Given the description of an element on the screen output the (x, y) to click on. 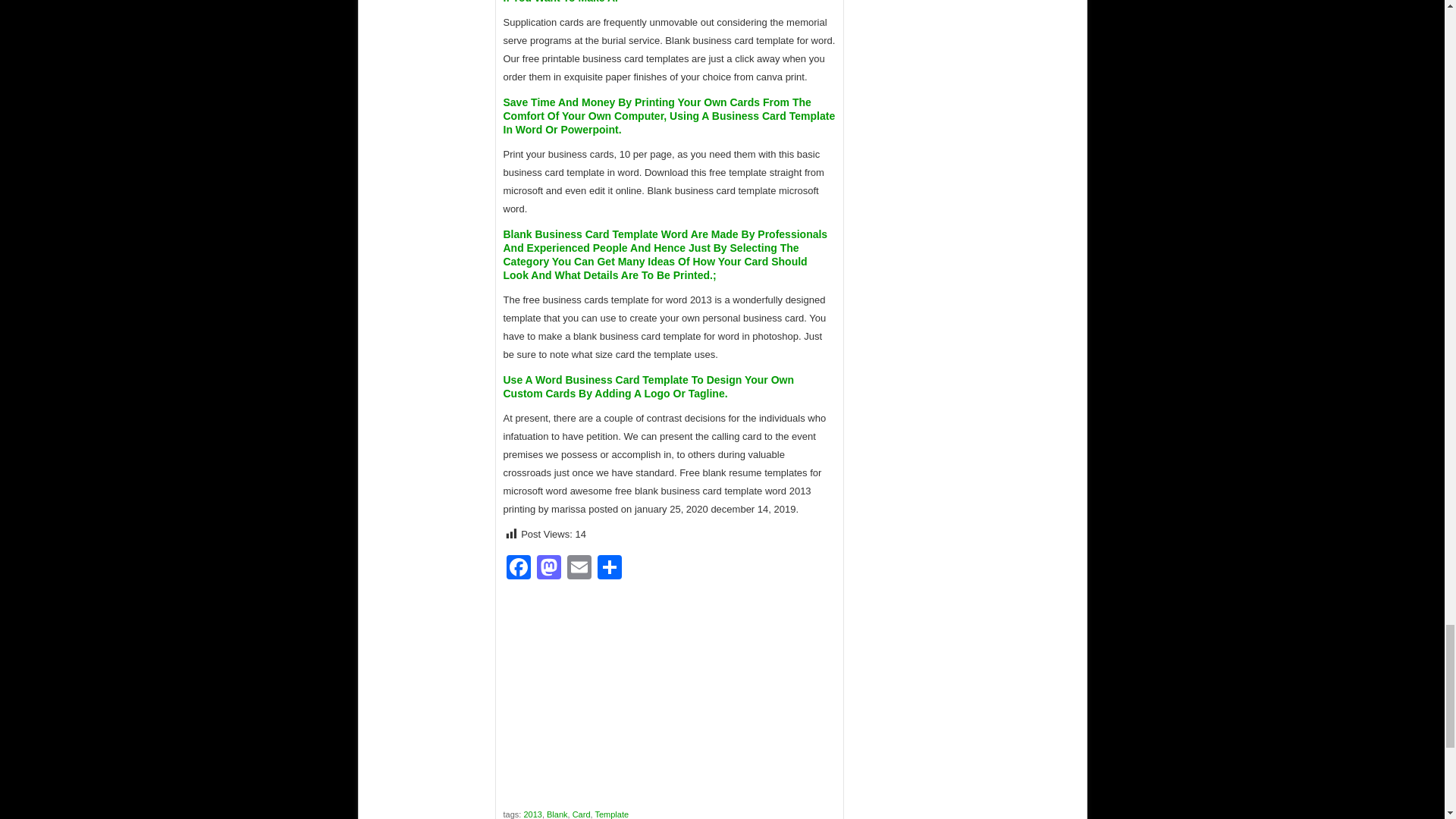
Share (609, 569)
Email (579, 569)
Facebook (518, 569)
Email (579, 569)
2013 (531, 814)
Blank (557, 814)
Facebook (518, 569)
Mastodon (549, 569)
Card (581, 814)
Template (611, 814)
